Given the description of an element on the screen output the (x, y) to click on. 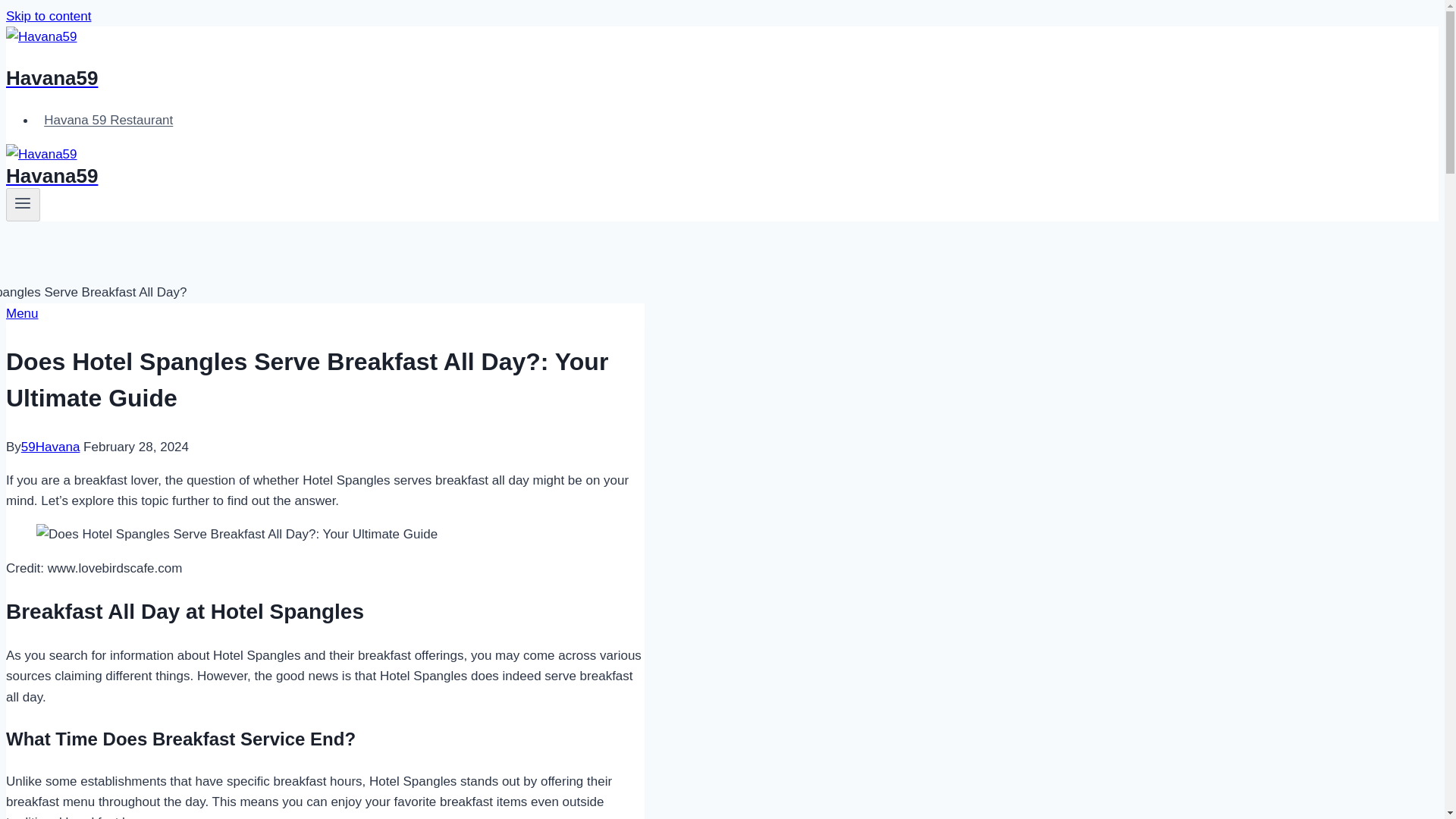
Skip to content (47, 16)
Toggle Menu (22, 203)
Havana 59 Restaurant (108, 120)
Havana59 (494, 167)
59Havana (50, 446)
Toggle Menu (22, 204)
Skip to content (47, 16)
Havana59 (494, 59)
Menu (22, 313)
